Given the description of an element on the screen output the (x, y) to click on. 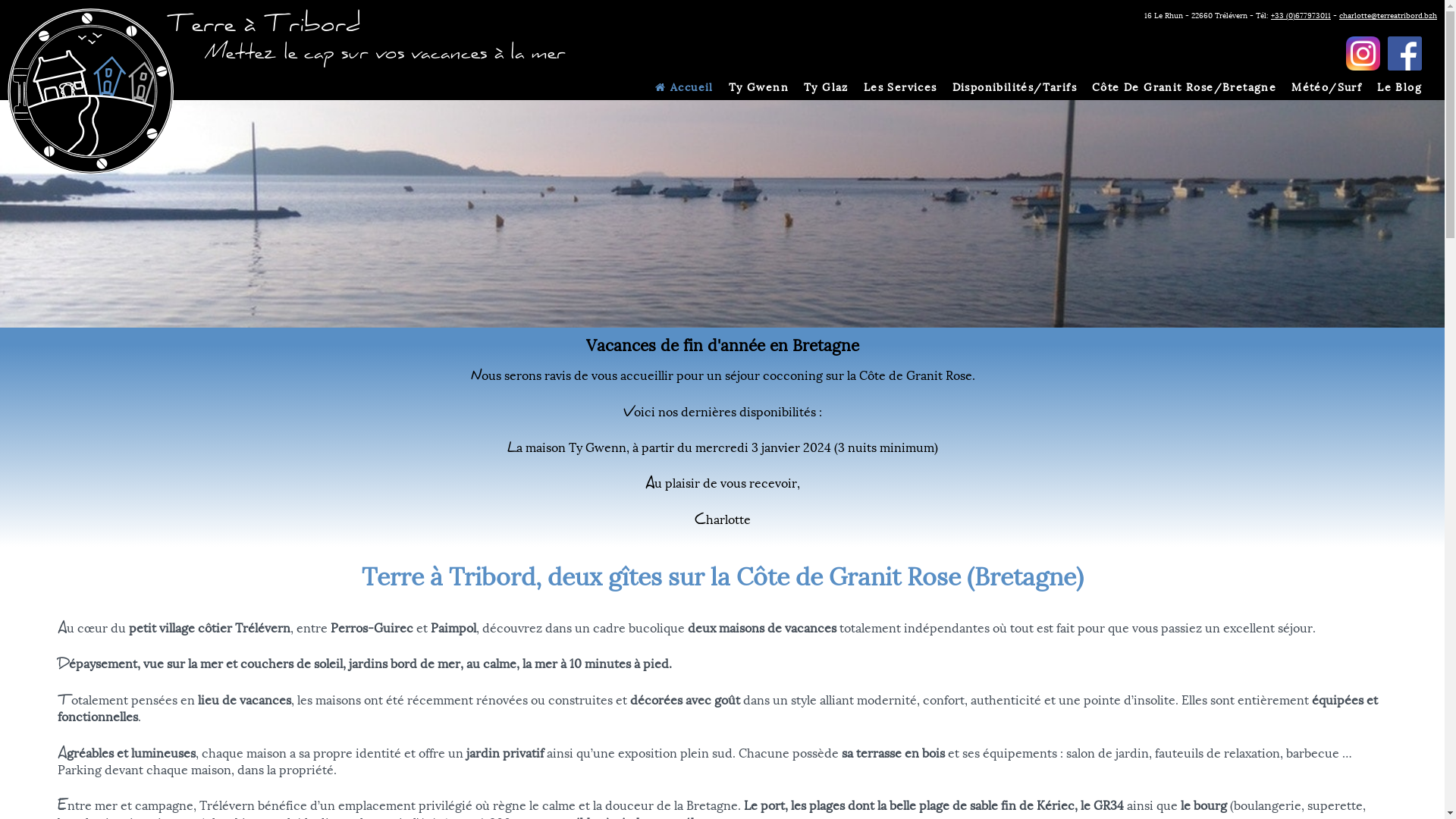
 Accueil Element type: text (684, 87)
+33 (0)677973011 Element type: text (1300, 15)
Le Blog Element type: text (1399, 87)
Les Services Element type: text (900, 87)
Suivez nous sur instagram Element type: hover (1363, 53)
Ty Gwenn Element type: text (758, 87)
charlotte@terreatribord.bzh Element type: text (1388, 15)
Ty Glaz Element type: text (826, 87)
Suivez nous sur facebook Element type: hover (1404, 53)
